Given the description of an element on the screen output the (x, y) to click on. 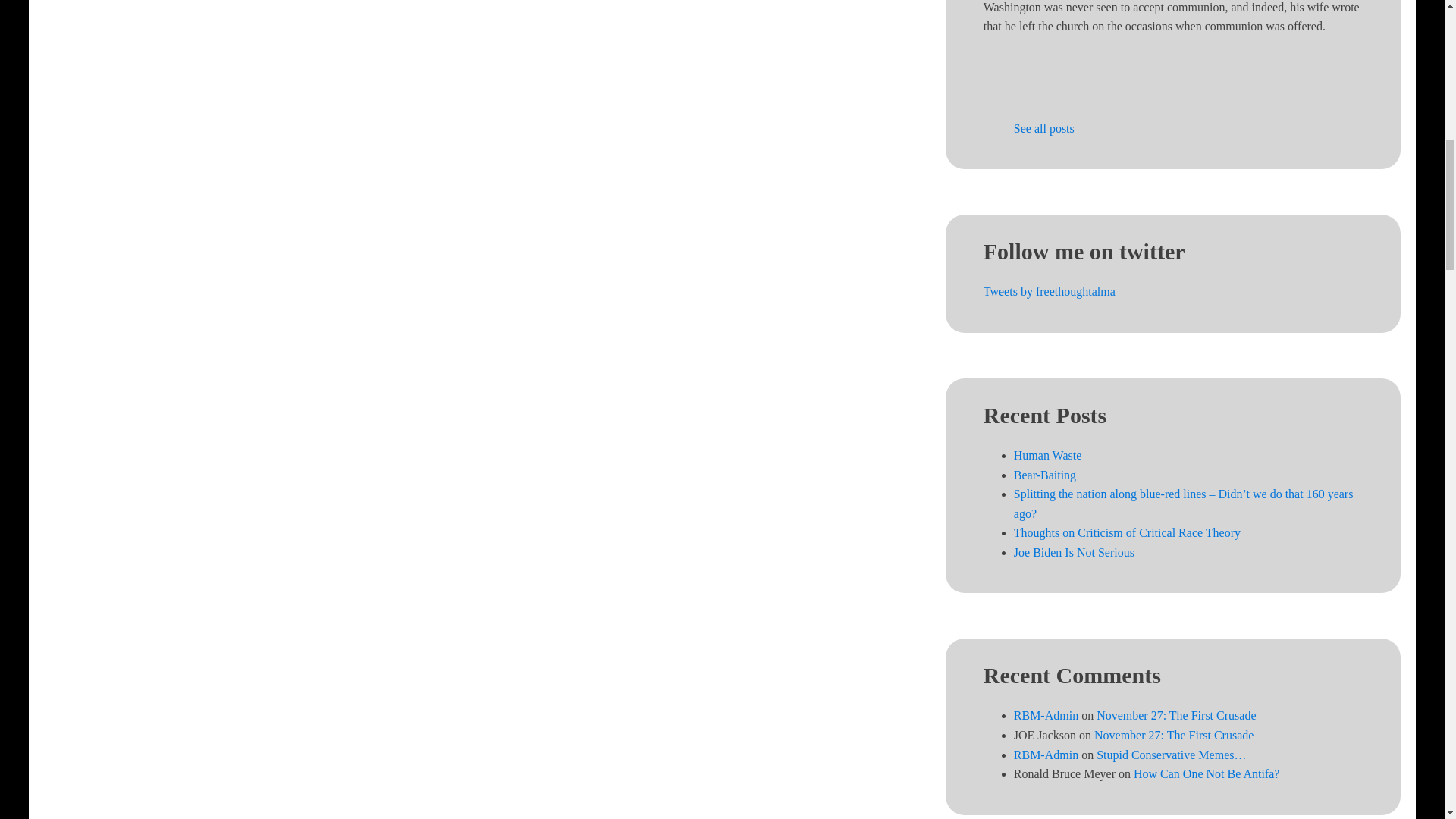
Joe Biden Is Not Serious (1073, 552)
See all posts (1043, 128)
November 27: The First Crusade (1175, 715)
Human Waste (1047, 454)
Tweets by freethoughtalma (1049, 291)
RBM-Admin (1045, 715)
How Can One Not Be Antifa? (1206, 773)
Bear-Baiting (1044, 474)
November 27: The First Crusade (1173, 735)
RBM-Admin (1045, 754)
Thoughts on Criticism of Critical Race Theory (1126, 532)
